Given the description of an element on the screen output the (x, y) to click on. 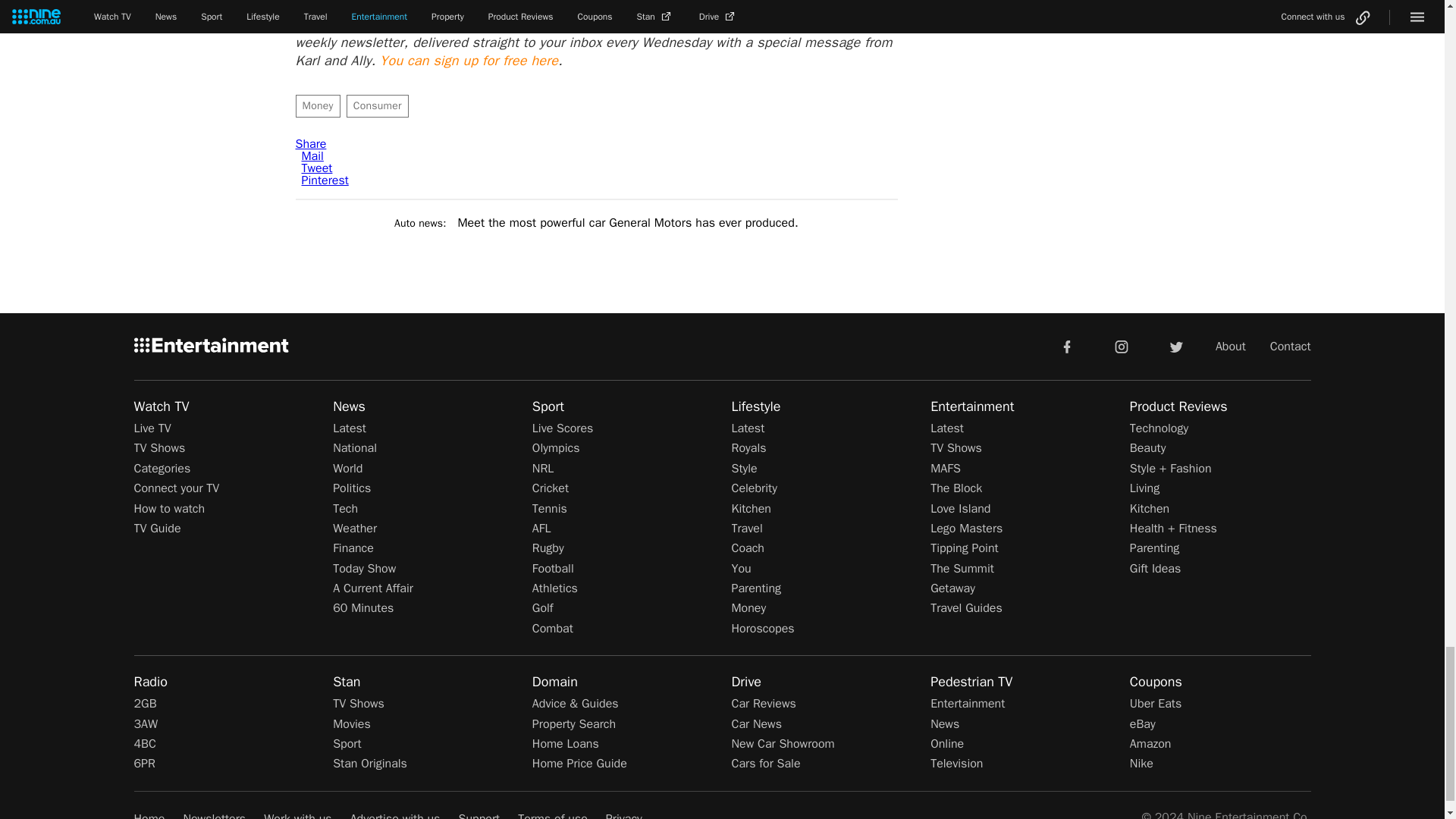
facebook (1066, 345)
Consumer (377, 106)
twitter (1175, 345)
instagram (1121, 345)
Mail (312, 155)
Pinterest (325, 180)
Tweet (317, 168)
Money (317, 106)
You can sign up for free here (468, 60)
You can sign up for free here. (468, 60)
Share (310, 143)
